Given the description of an element on the screen output the (x, y) to click on. 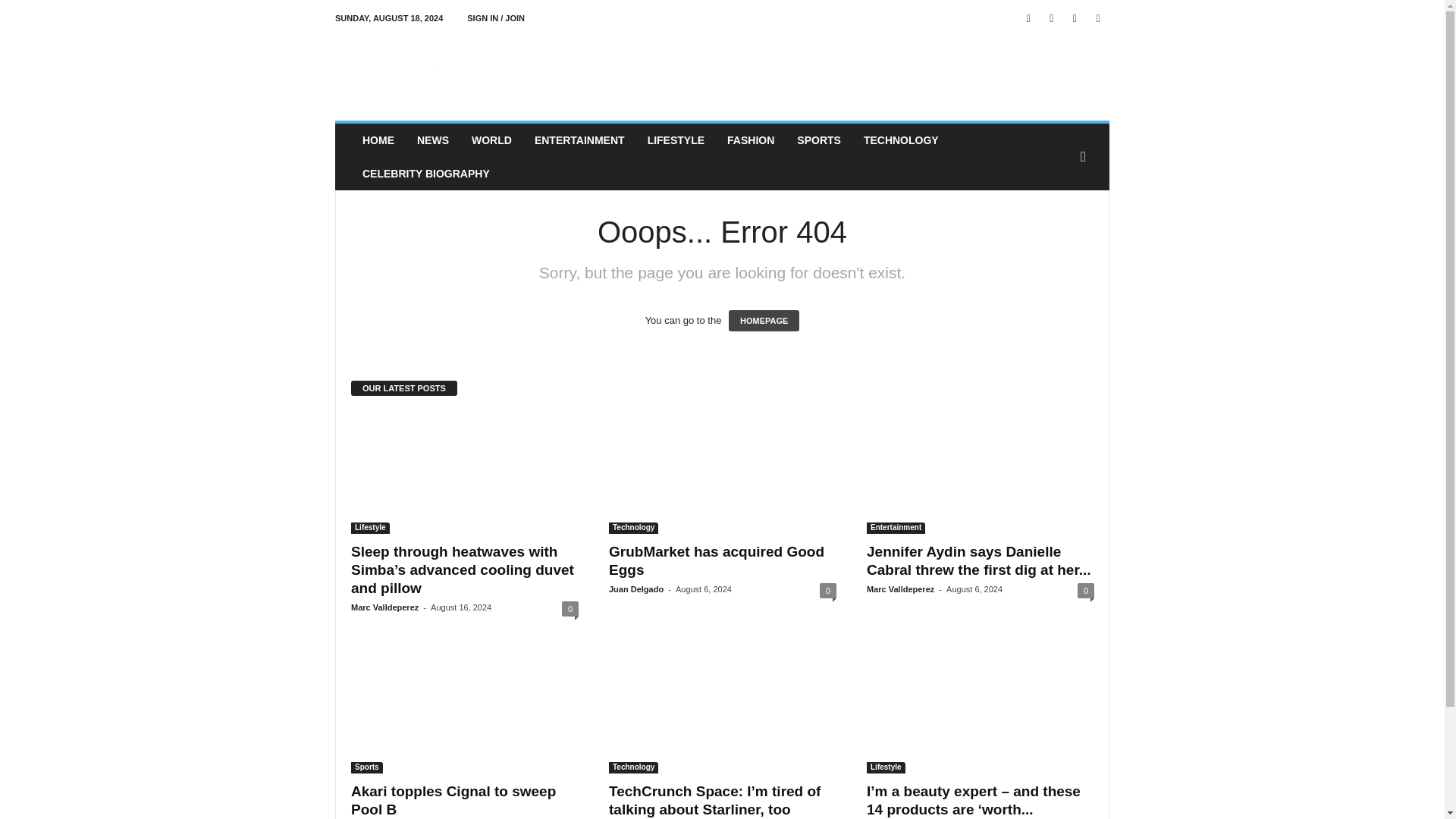
FASHION (751, 140)
NEWS (433, 140)
LIFESTYLE (676, 140)
GrubMarket has acquired Good Eggs (716, 560)
Tribun Kepo (437, 70)
SPORTS (818, 140)
ENTERTAINMENT (579, 140)
WORLD (491, 140)
Akari topples Cignal to sweep Pool B (464, 712)
TECHNOLOGY (900, 140)
